Given the description of an element on the screen output the (x, y) to click on. 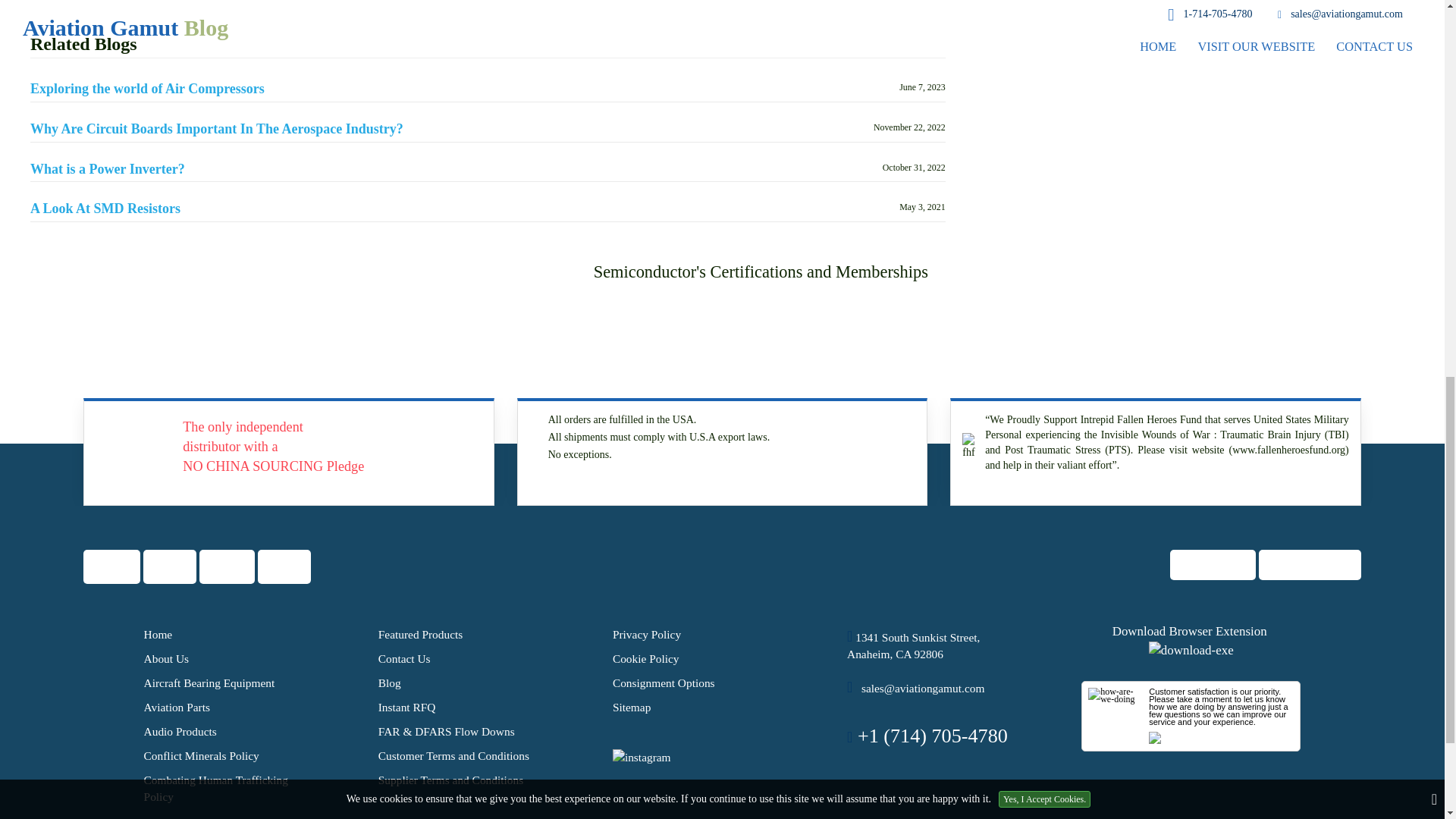
Exploring the world of Air Compressors (147, 89)
About Us (166, 658)
What is a Power Inverter? (107, 169)
Home (158, 634)
Aircraft Bearing Equipment (209, 682)
Why Are Circuit Boards Important In The Aerospace Industry? (216, 129)
A Look At SMD Resistors (105, 208)
